Given the description of an element on the screen output the (x, y) to click on. 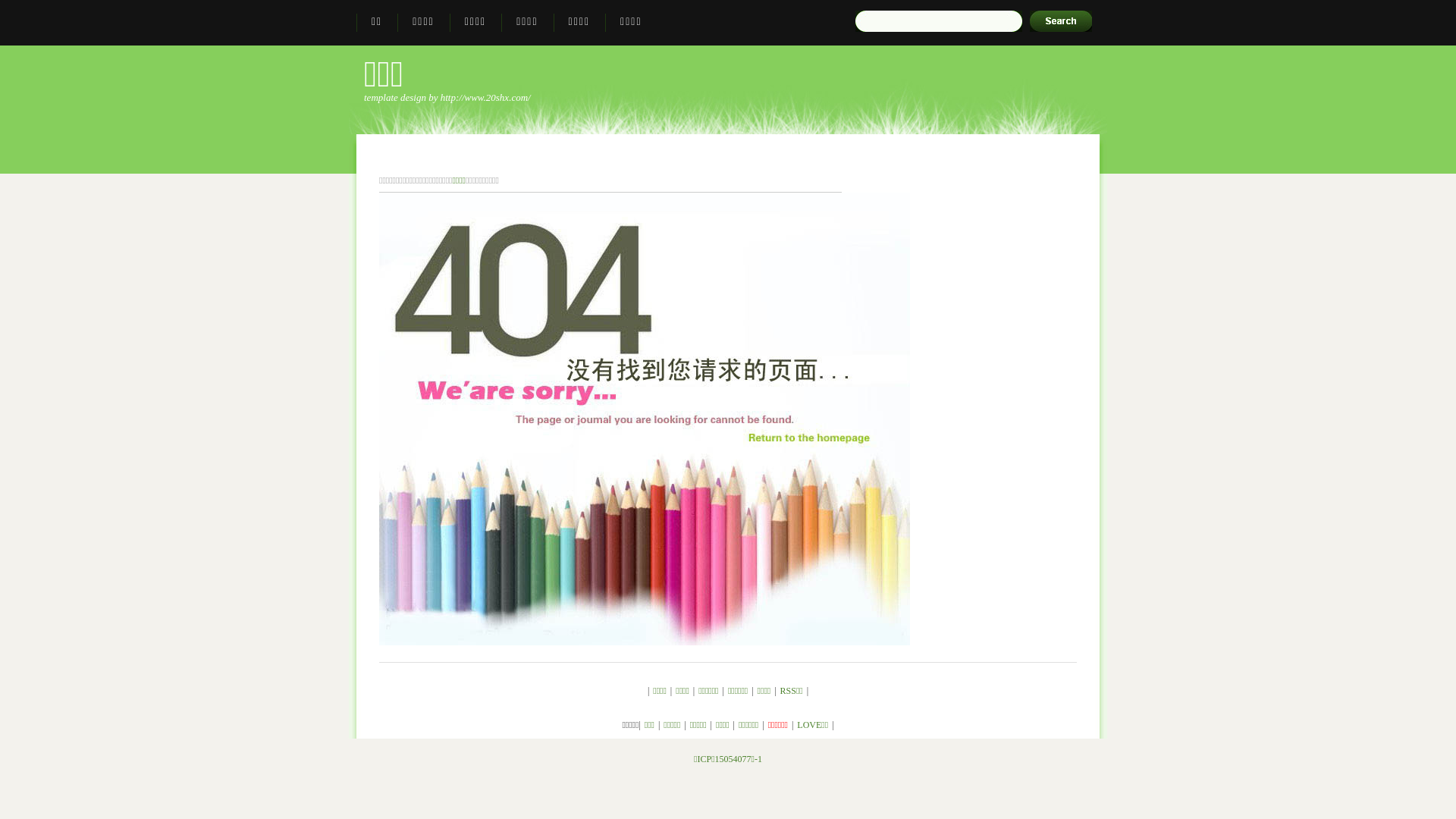
  Element type: text (1060, 20)
http://www.20shx.com/ Element type: text (485, 97)
